Given the description of an element on the screen output the (x, y) to click on. 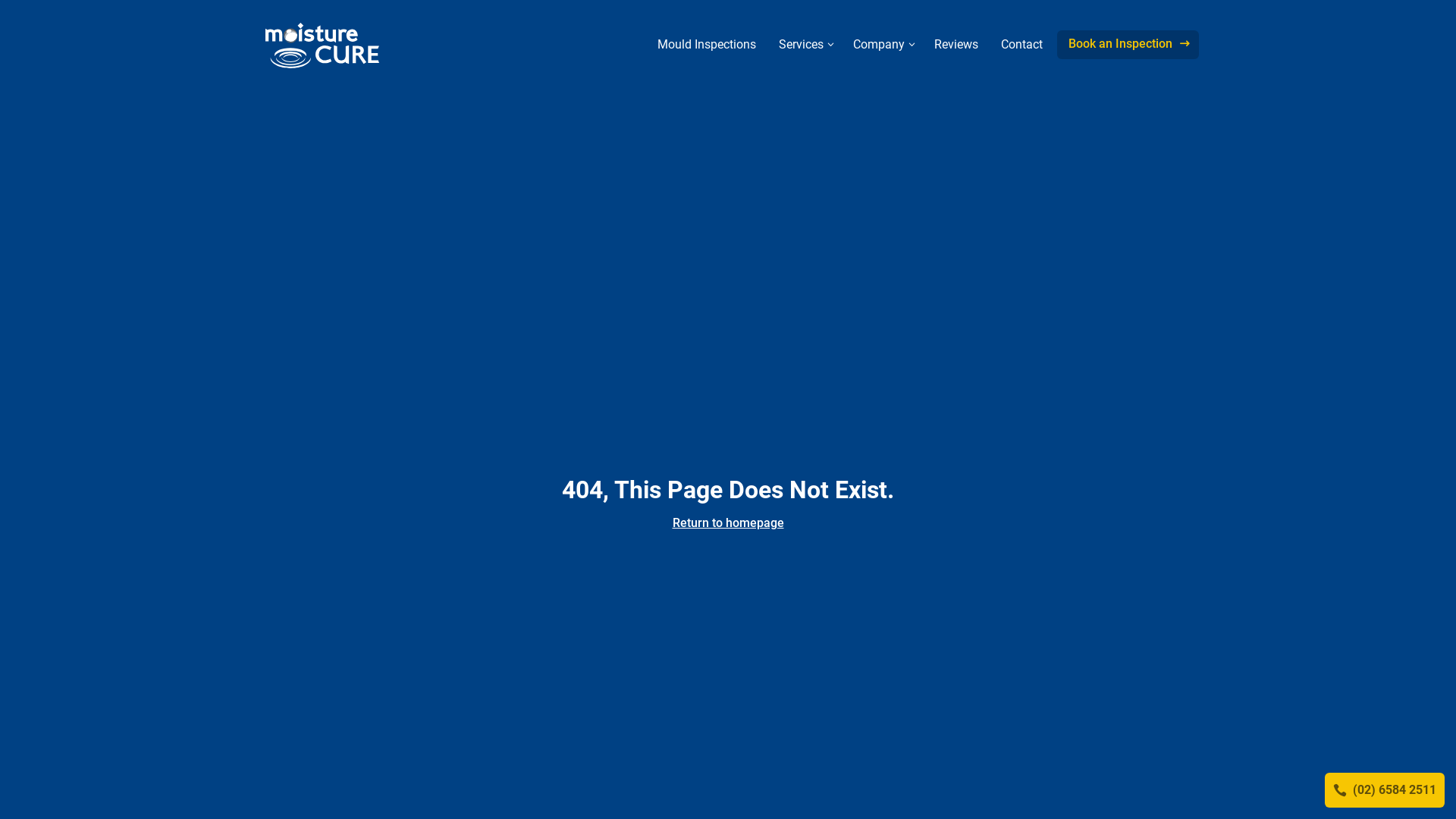
Contact Element type: text (1021, 44)
Mould Inspections Element type: text (706, 44)
Services Element type: text (804, 44)
Company Element type: text (881, 44)
Return to homepage Element type: text (727, 522)
Reviews Element type: text (955, 44)
Book an Inspection Element type: text (1127, 44)
Moisture Cure Element type: hover (322, 45)
